Given the description of an element on the screen output the (x, y) to click on. 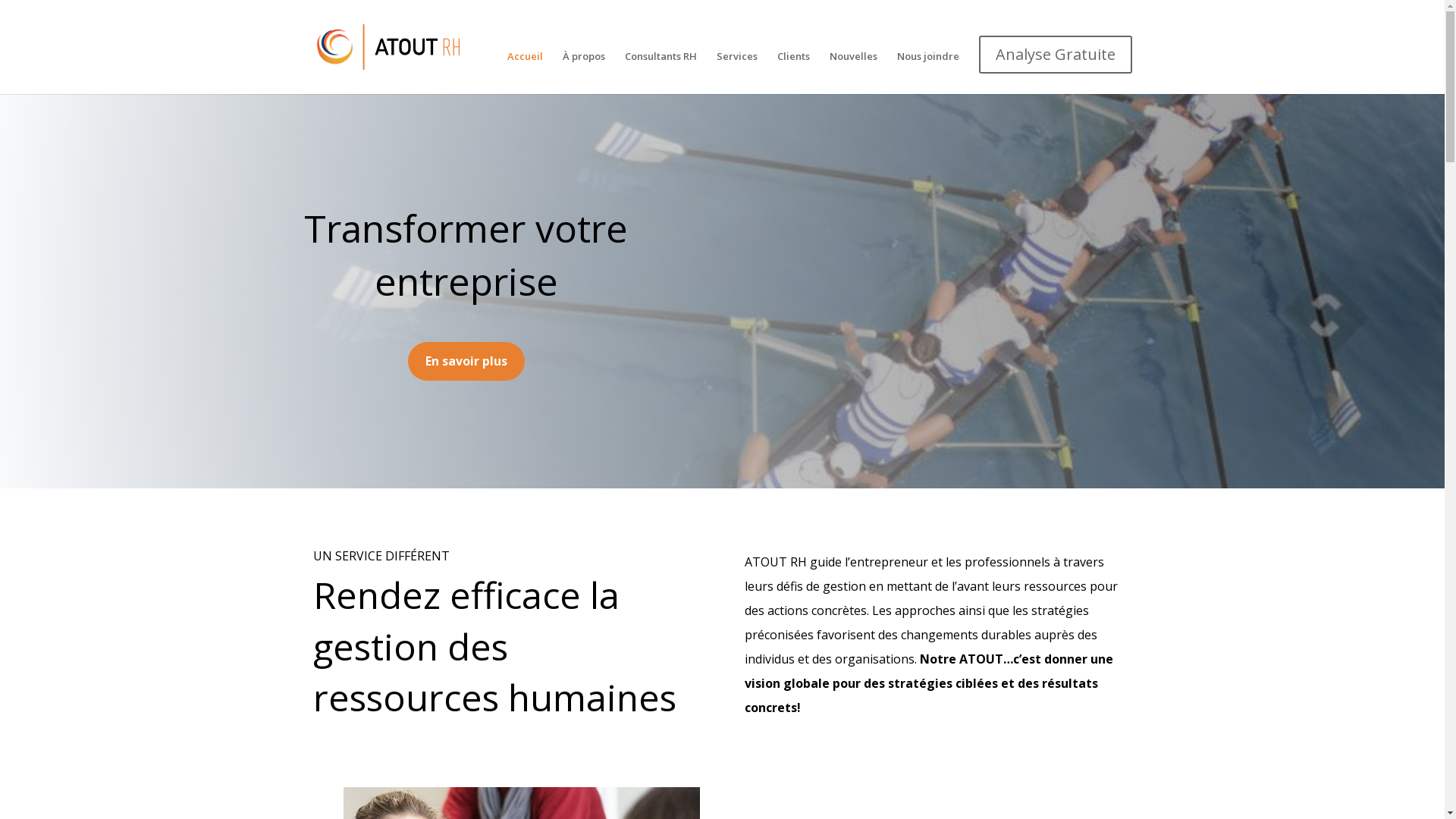
Accueil Element type: text (524, 65)
Services Element type: text (735, 65)
Nous joindre Element type: text (927, 65)
Clients Element type: text (792, 65)
Consultants RH Element type: text (660, 65)
En savoir plus Element type: text (465, 361)
Nouvelles Element type: text (853, 65)
Analyse Gratuite Element type: text (1054, 57)
